Given the description of an element on the screen output the (x, y) to click on. 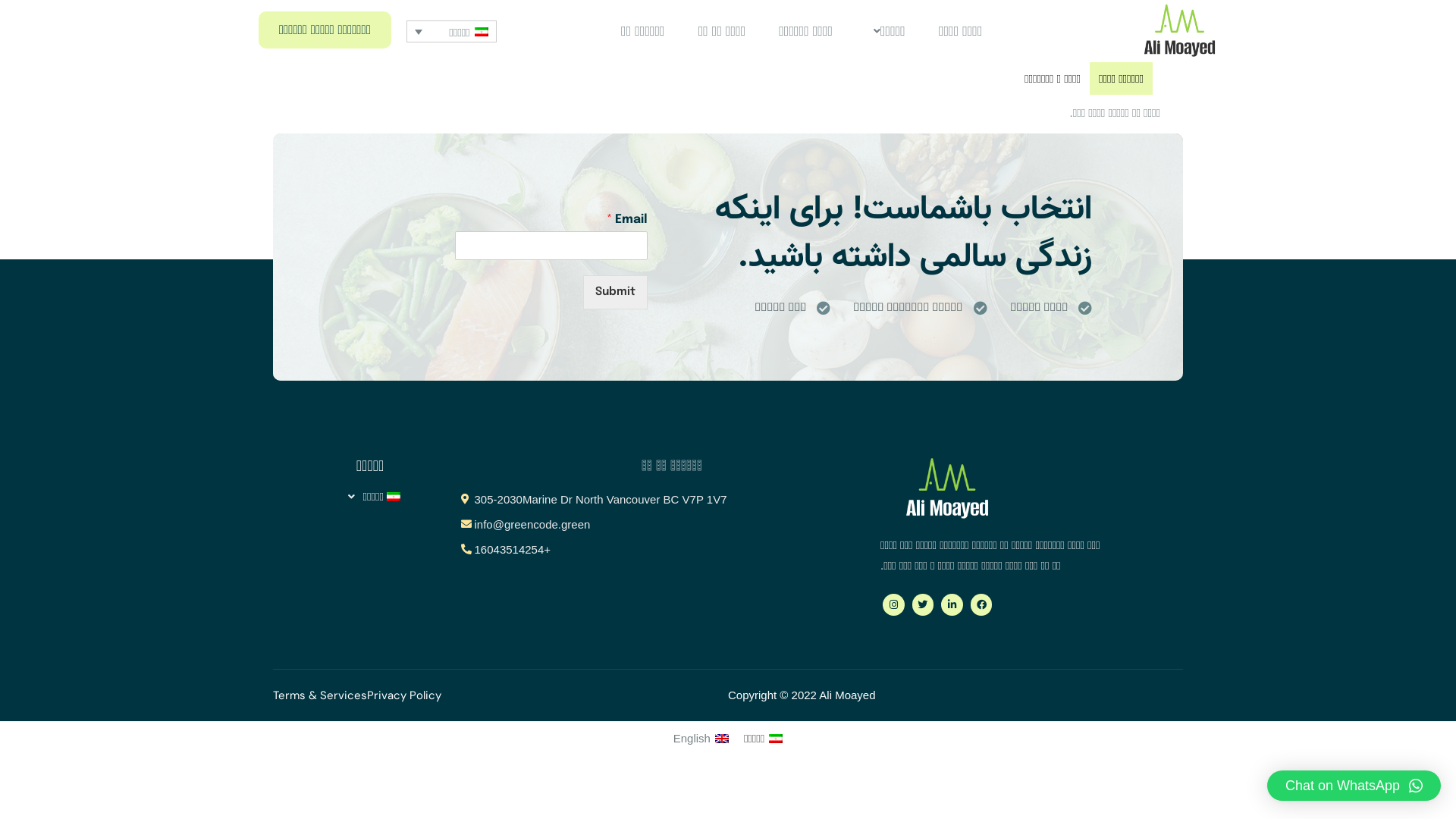
305-2030Marine Dr North Vancouver BC V7P 1V7 Element type: text (597, 499)
Submit Element type: text (615, 292)
16043514254+ Element type: text (597, 549)
Chat on WhatsApp Element type: text (1353, 785)
English Element type: text (700, 738)
info@greencode.green Element type: text (597, 524)
Privacy Policy Element type: text (404, 695)
Terms & Services Element type: text (320, 695)
